Given the description of an element on the screen output the (x, y) to click on. 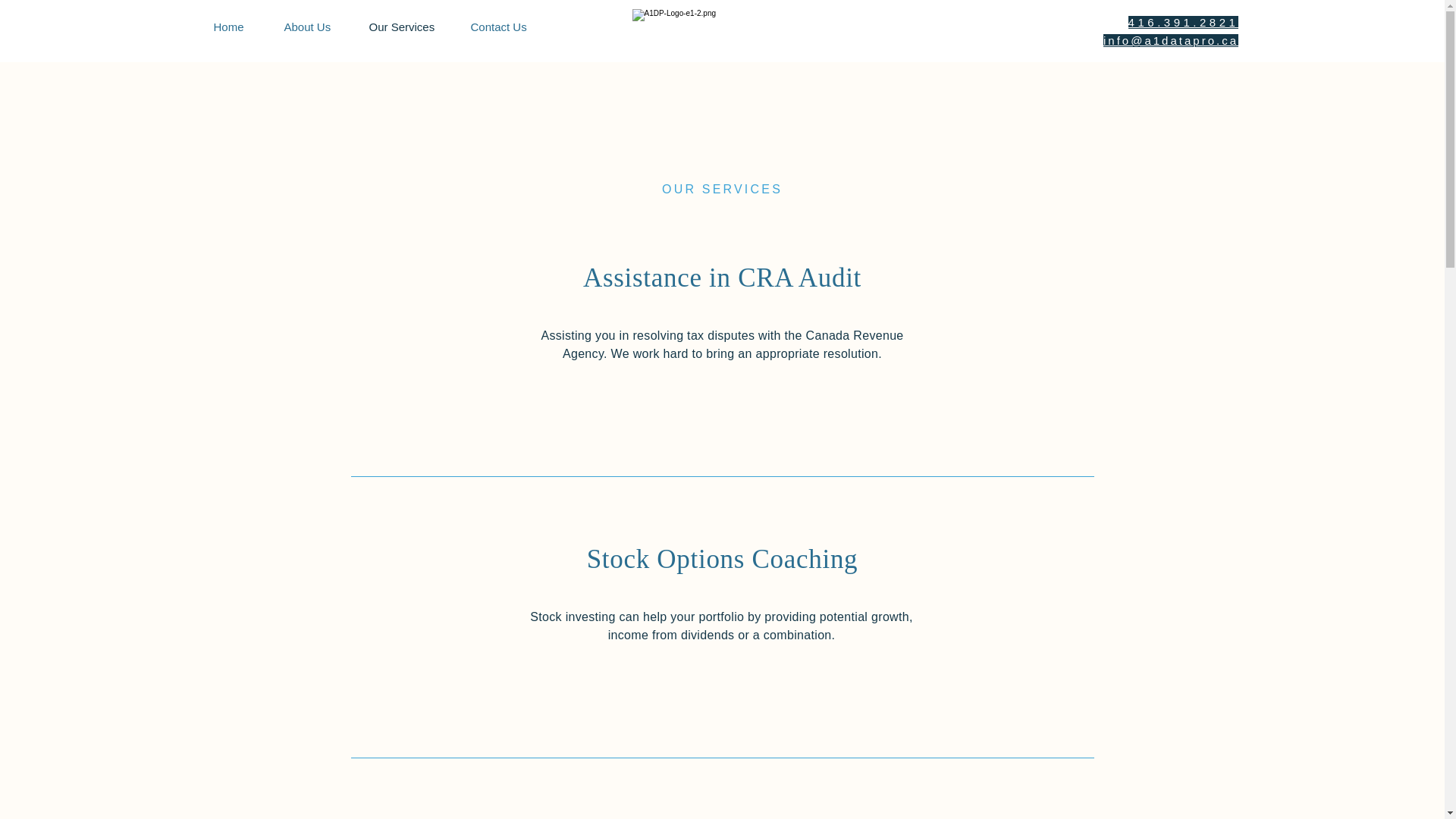
Our Services (409, 27)
416.391.2821 (1183, 21)
About Us (315, 27)
Contact Us (506, 27)
Home (237, 27)
